Given the description of an element on the screen output the (x, y) to click on. 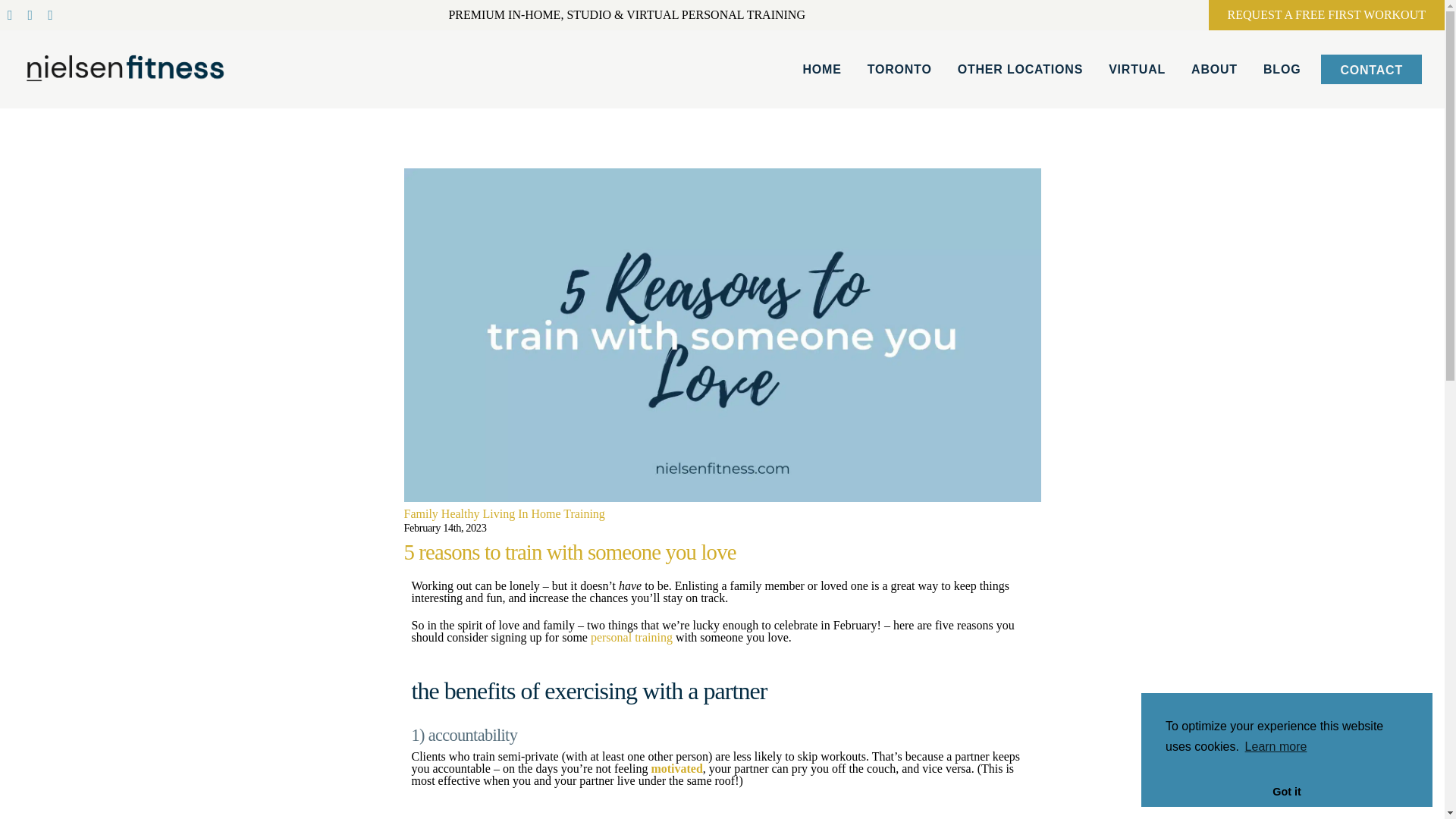
HOME (820, 68)
TORONTO (899, 68)
personal training (631, 636)
Healthy Living (478, 512)
In Home Training (561, 512)
motivated (675, 768)
VIRTUAL (1136, 68)
ABOUT (1214, 68)
5 reasons to train with someone you love (569, 551)
CONTACT (1371, 69)
Family (420, 512)
BLOG (1281, 68)
OTHER LOCATIONS (1019, 68)
